Given the description of an element on the screen output the (x, y) to click on. 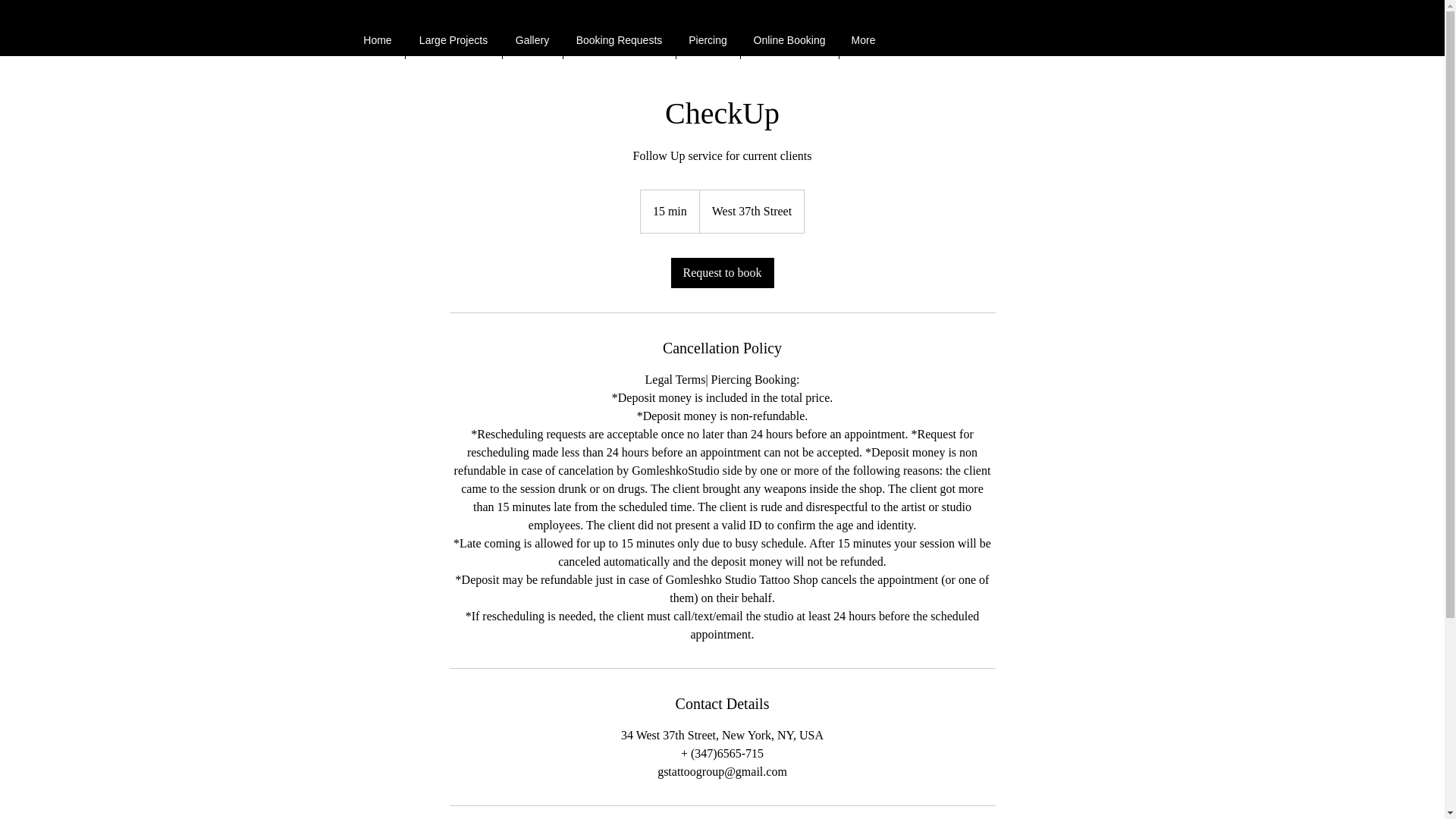
Request to book (721, 272)
Online Booking (788, 39)
Large Projects (452, 39)
Piercing (708, 39)
Gallery (532, 39)
Home (377, 39)
Booking Requests (618, 39)
